Given the description of an element on the screen output the (x, y) to click on. 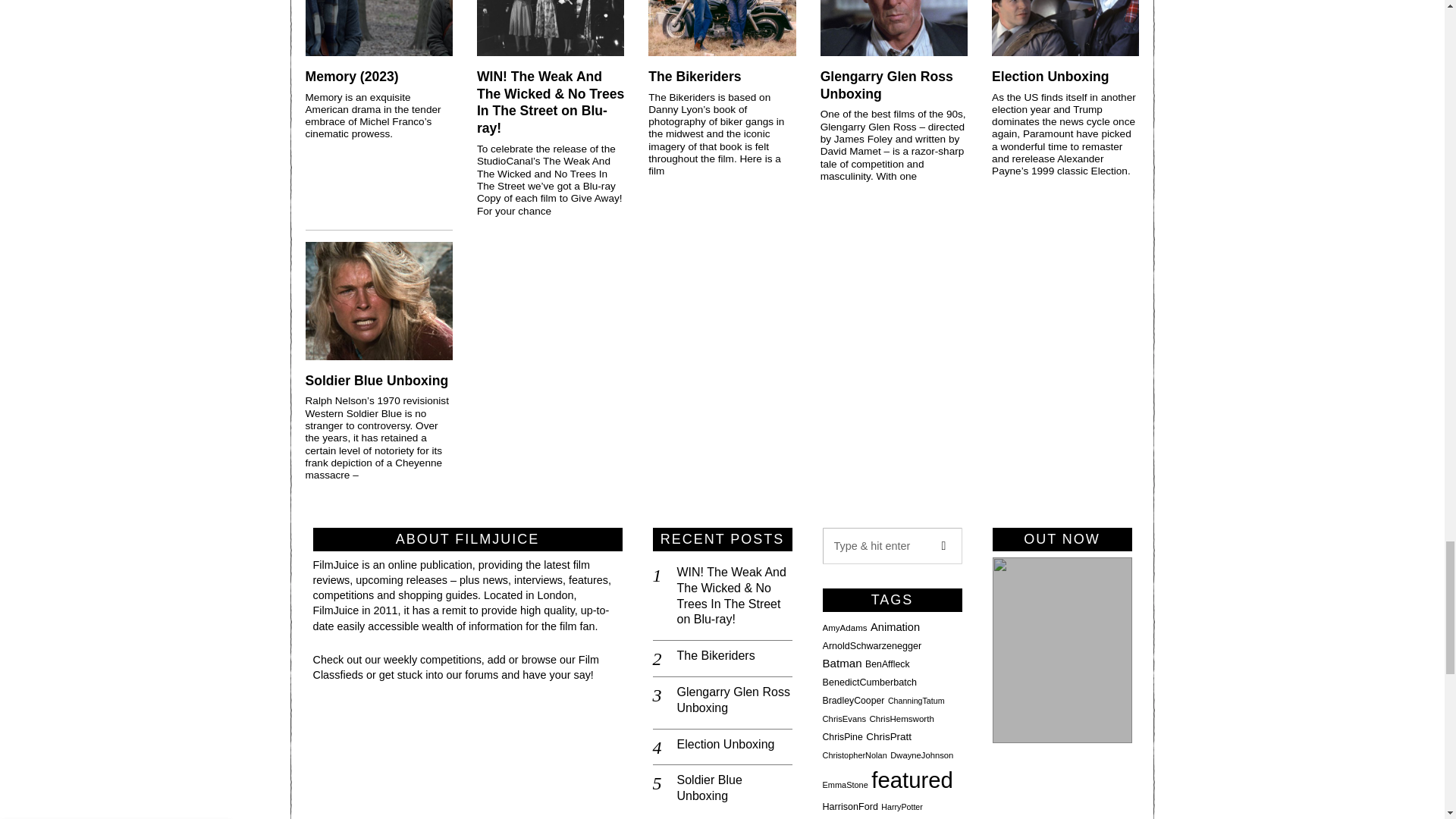
Go (942, 545)
